Given the description of an element on the screen output the (x, y) to click on. 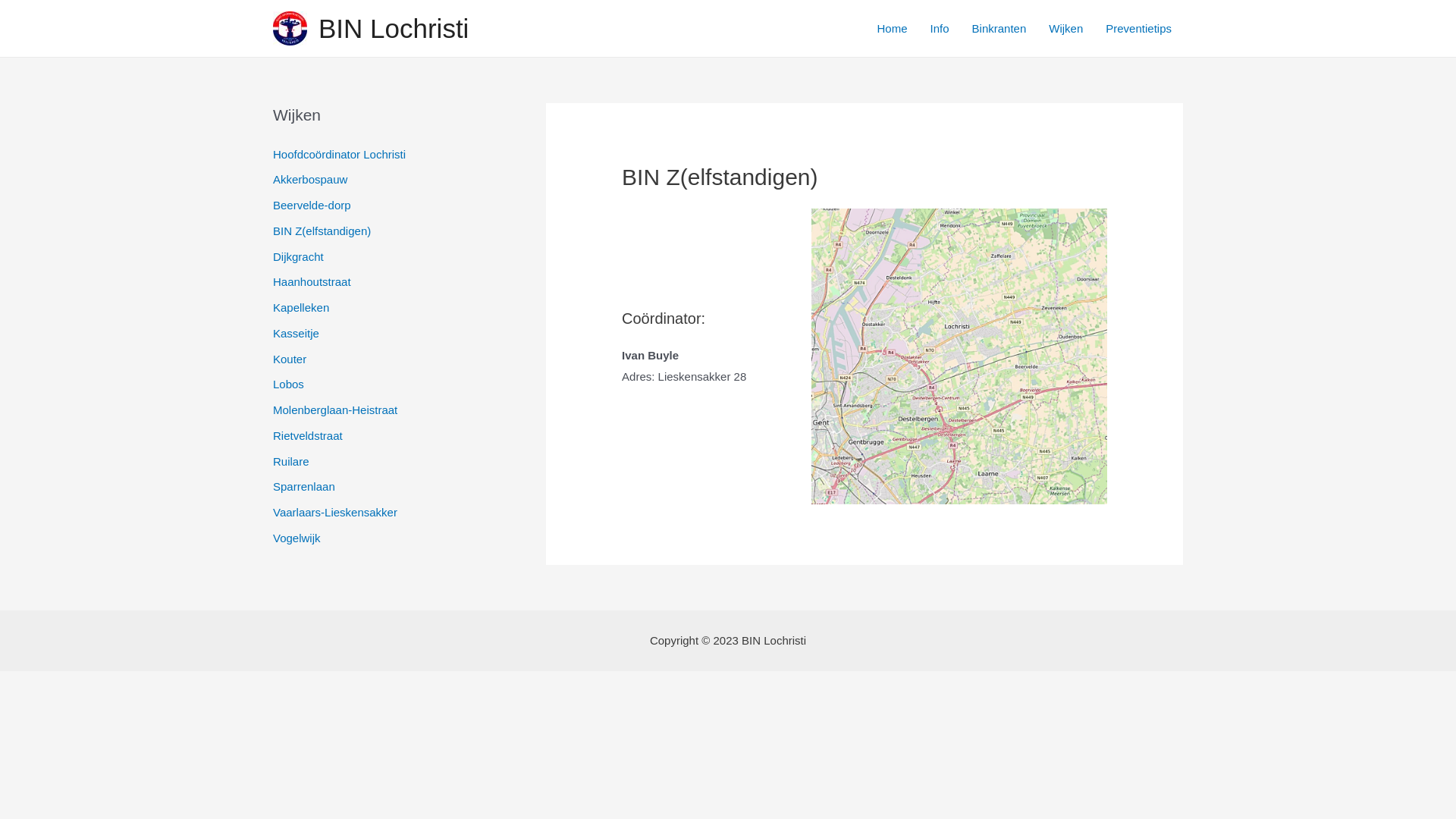
BIN Lochristi Element type: text (393, 28)
Vogelwijk Element type: text (296, 537)
Sparrenlaan Element type: text (304, 486)
Kasseitje Element type: text (296, 332)
Preventietips Element type: text (1138, 27)
Lobos Element type: text (288, 383)
Home Element type: text (892, 27)
BIN Z(elfstandigen) Element type: text (321, 230)
Vaarlaars-Lieskensakker Element type: text (335, 511)
Kapelleken Element type: text (301, 307)
Ruilare Element type: text (291, 461)
Dijkgracht Element type: text (298, 256)
Binkranten Element type: text (999, 27)
Rietveldstraat Element type: text (307, 435)
Kouter Element type: text (289, 357)
Wijken Element type: text (1065, 27)
Molenberglaan-Heistraat Element type: text (335, 409)
Beervelde-dorp Element type: text (312, 204)
Haanhoutstraat Element type: text (312, 281)
Akkerbospauw Element type: text (310, 178)
Info Element type: text (939, 27)
